Given the description of an element on the screen output the (x, y) to click on. 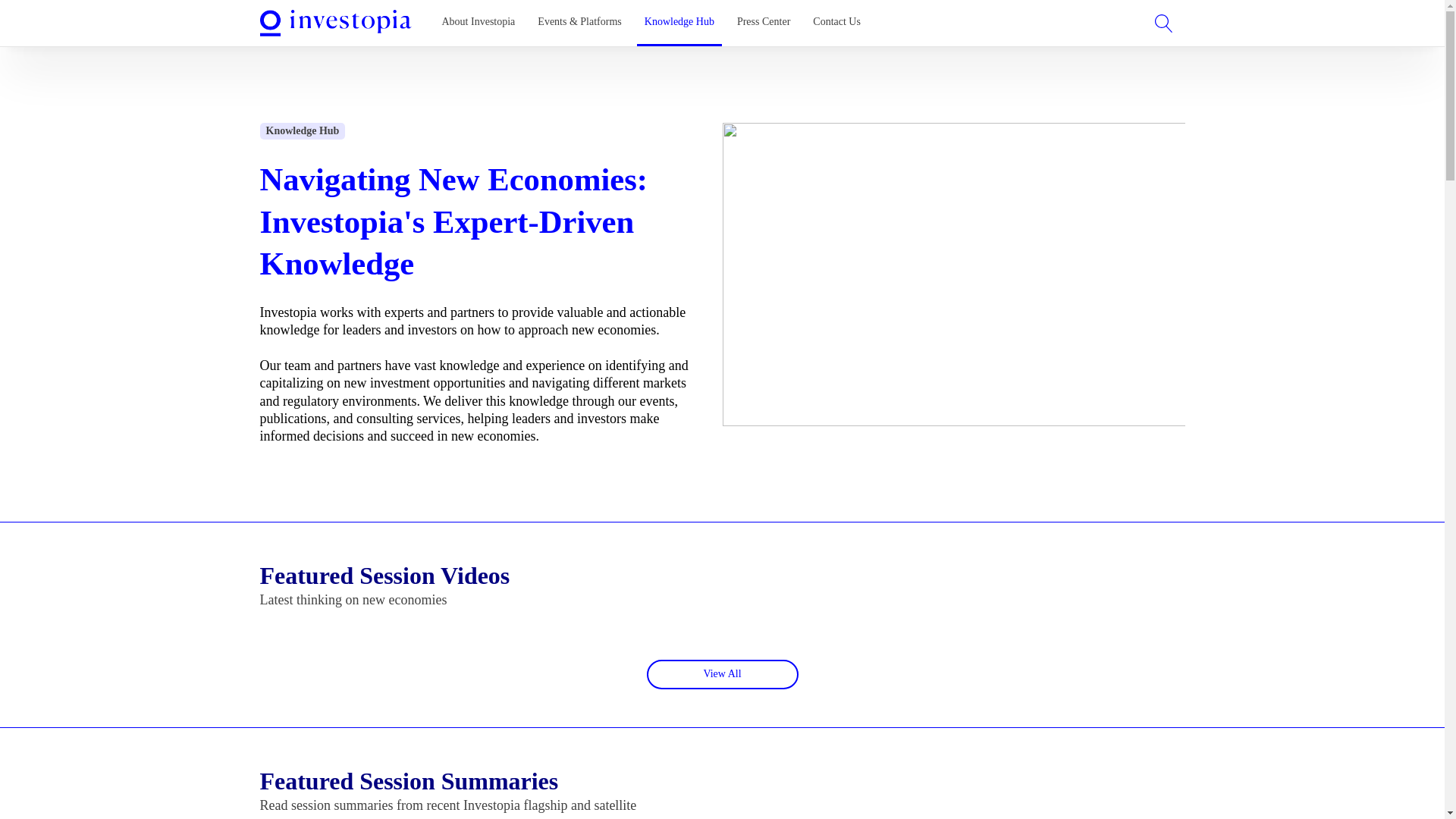
Press Center (763, 22)
Contact Us (836, 22)
About Investopia (477, 22)
Knowledge Hub (679, 22)
Search (24, 10)
View All (721, 674)
